Given the description of an element on the screen output the (x, y) to click on. 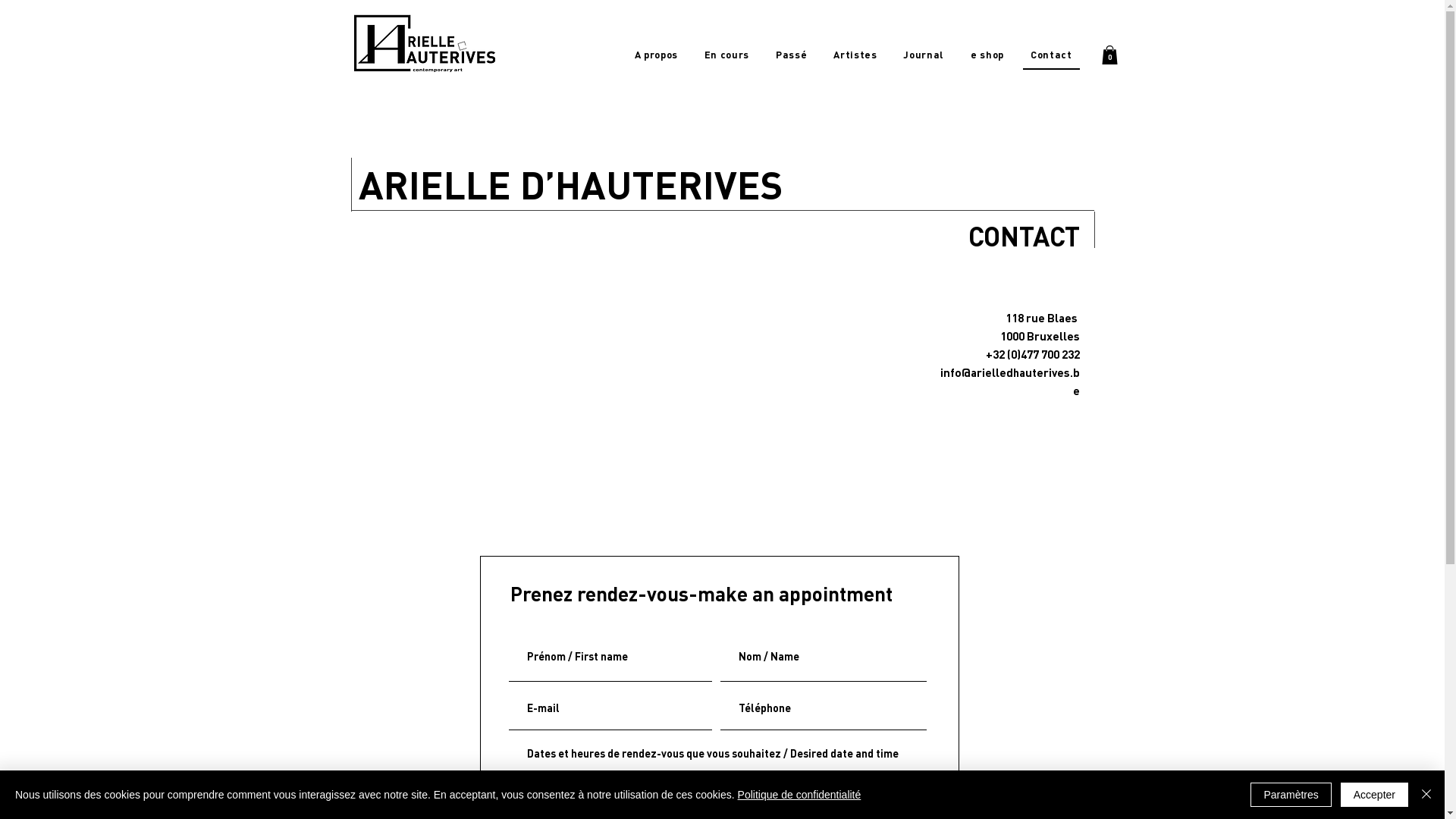
Google Maps Element type: hover (670, 405)
A propos Element type: text (656, 54)
En cours Element type: text (726, 54)
Accepter Element type: text (1374, 794)
info@arielledhauterives.be Element type: text (1009, 381)
Journal Element type: text (923, 54)
Contact Element type: text (1050, 54)
Artistes Element type: text (854, 54)
+32 (0)477 700 232 Element type: text (1032, 353)
e shop Element type: text (987, 54)
0 Element type: text (1109, 54)
